Given the description of an element on the screen output the (x, y) to click on. 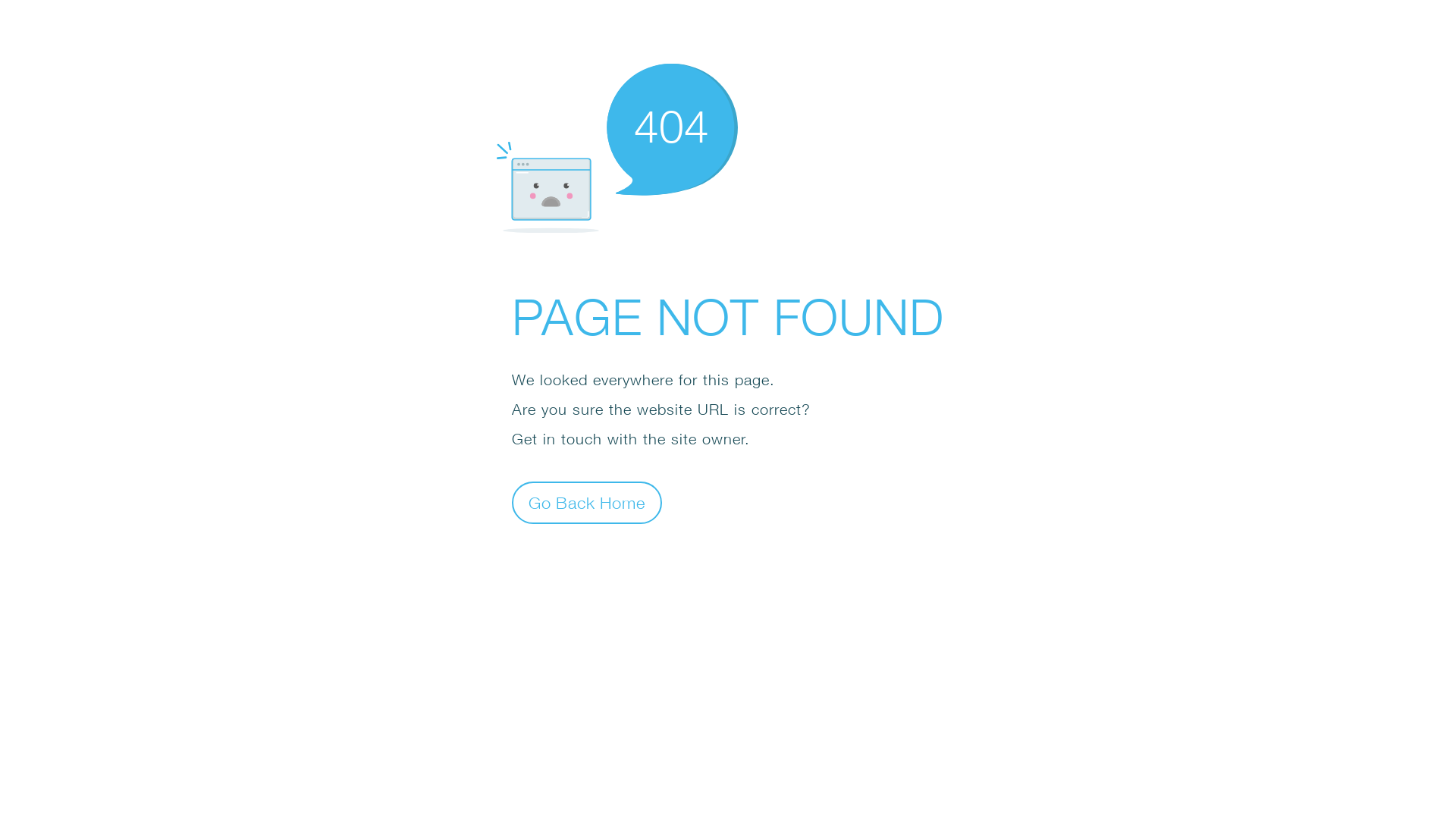
Go Back Home Element type: text (586, 502)
